Given the description of an element on the screen output the (x, y) to click on. 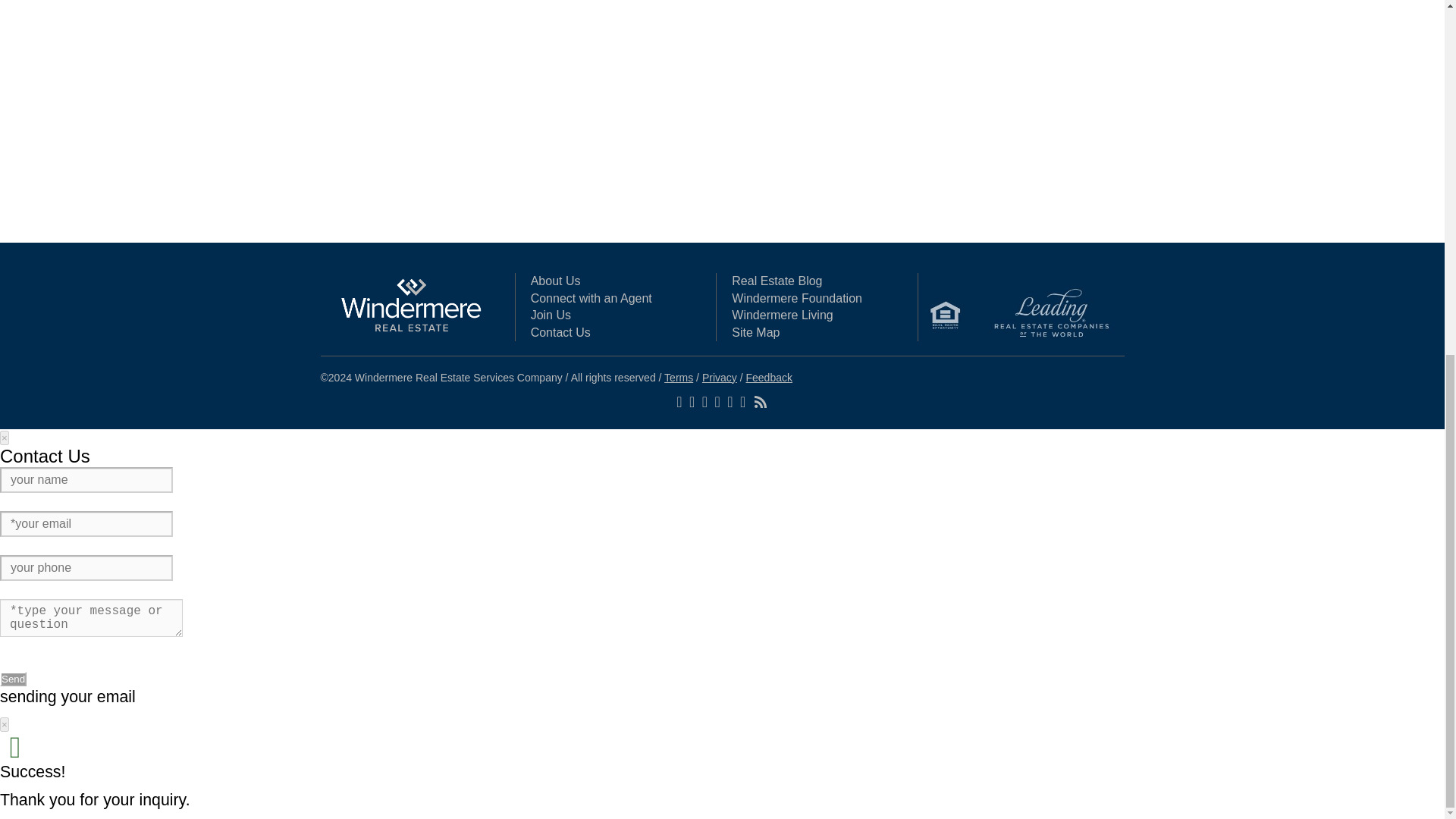
Join Us (550, 314)
Contact Us (561, 332)
Connect with an Agent (591, 297)
Send (13, 678)
Site Map (755, 332)
Windermere Living (782, 314)
Privacy (718, 377)
About Us (555, 280)
Feedback (768, 377)
Windermere Foundation (796, 297)
w-footer-Leading-RE (1051, 313)
Real Estate Blog (777, 280)
Terms (678, 377)
